Given the description of an element on the screen output the (x, y) to click on. 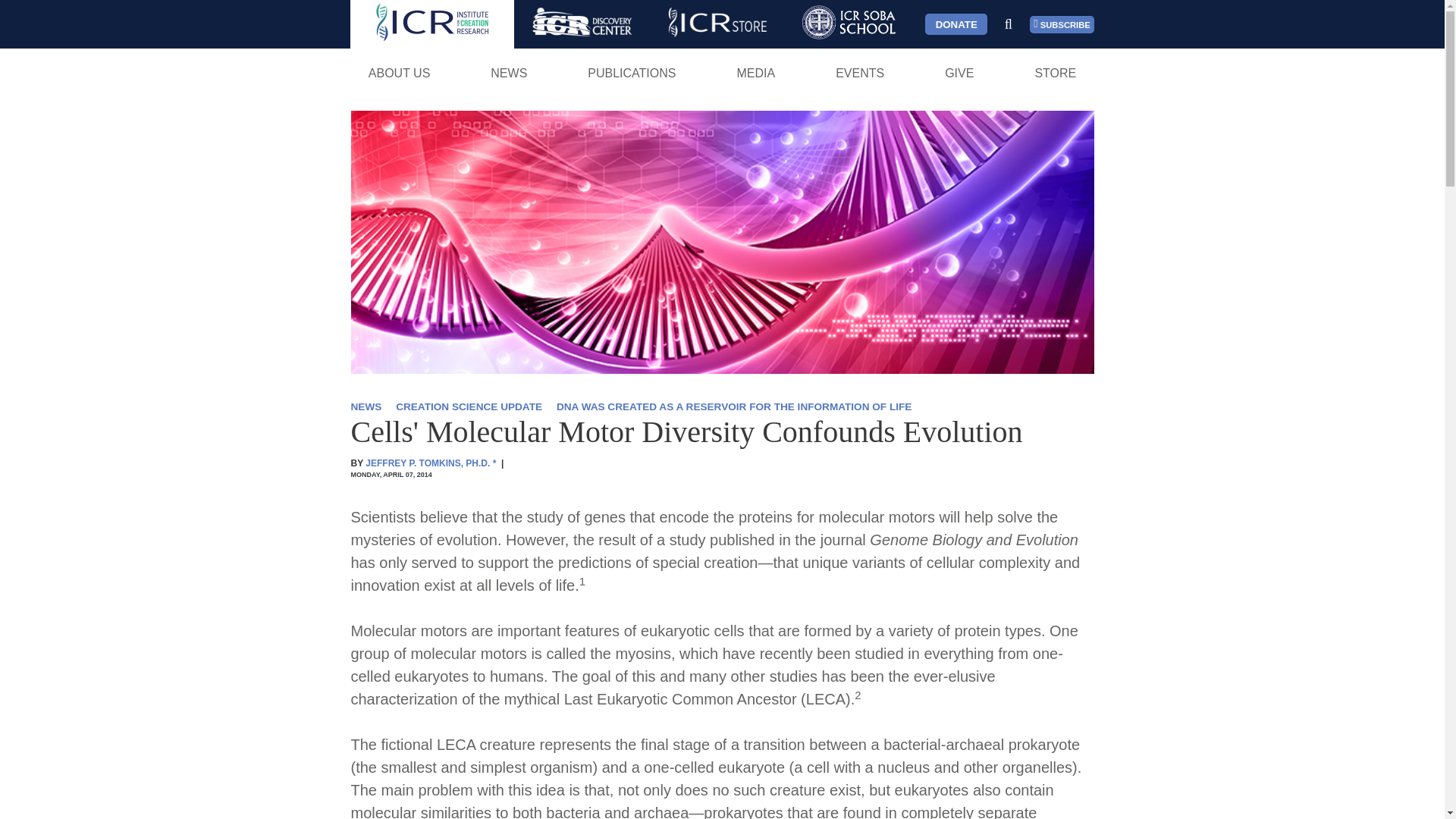
SUBSCRIBE (1061, 24)
ABOUT US (399, 73)
DONATE (955, 24)
NEWS (508, 73)
PUBLICATIONS (631, 73)
